Given the description of an element on the screen output the (x, y) to click on. 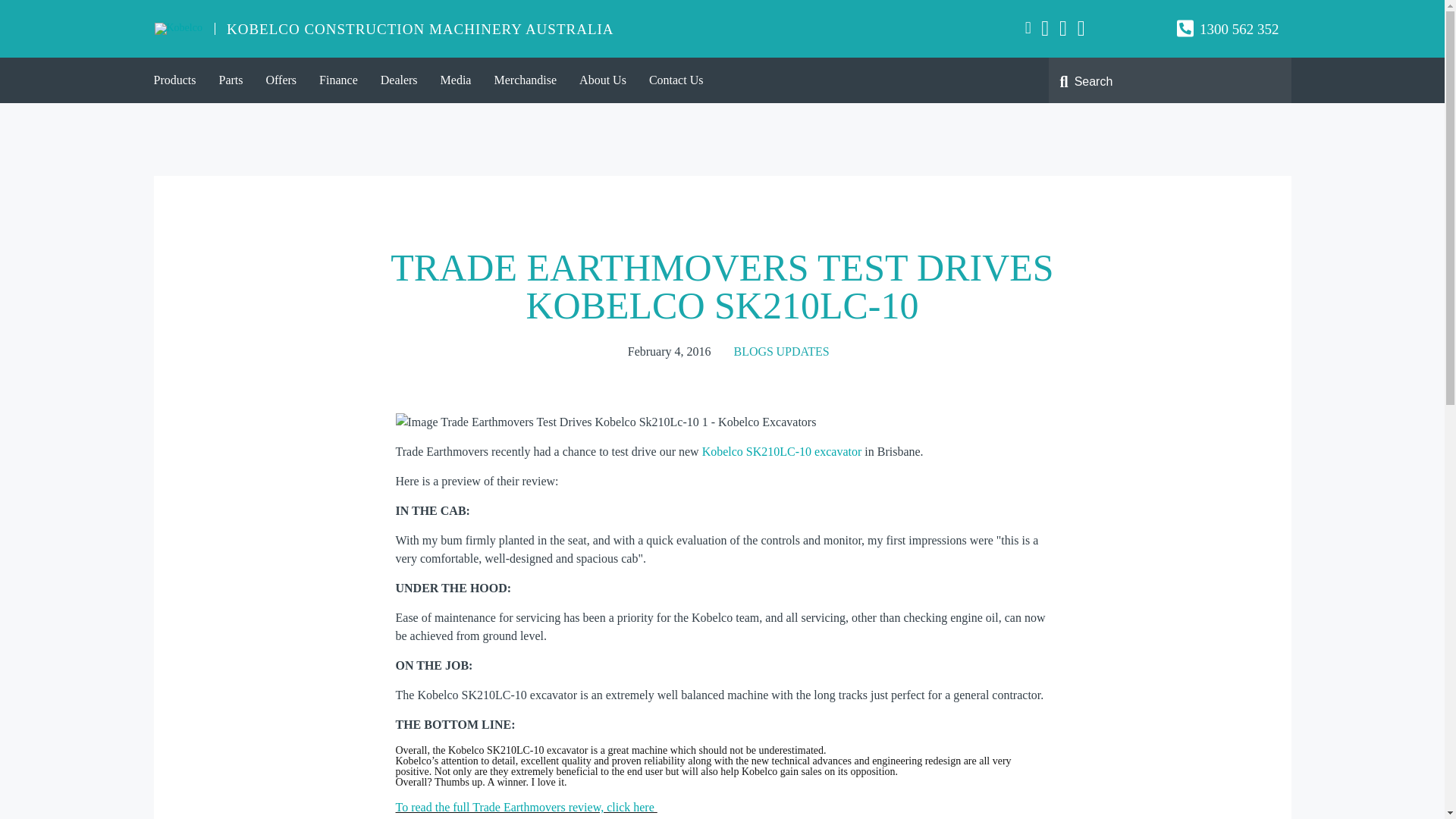
Products (175, 80)
About Us (602, 80)
Media (456, 80)
To read the full Trade Earthmovers review, click here  (527, 809)
1300 562 352 (1239, 28)
Parts (231, 80)
Offers (281, 80)
Dealers (399, 80)
AUS Phone Number (1239, 28)
Merchandise (524, 80)
